Given the description of an element on the screen output the (x, y) to click on. 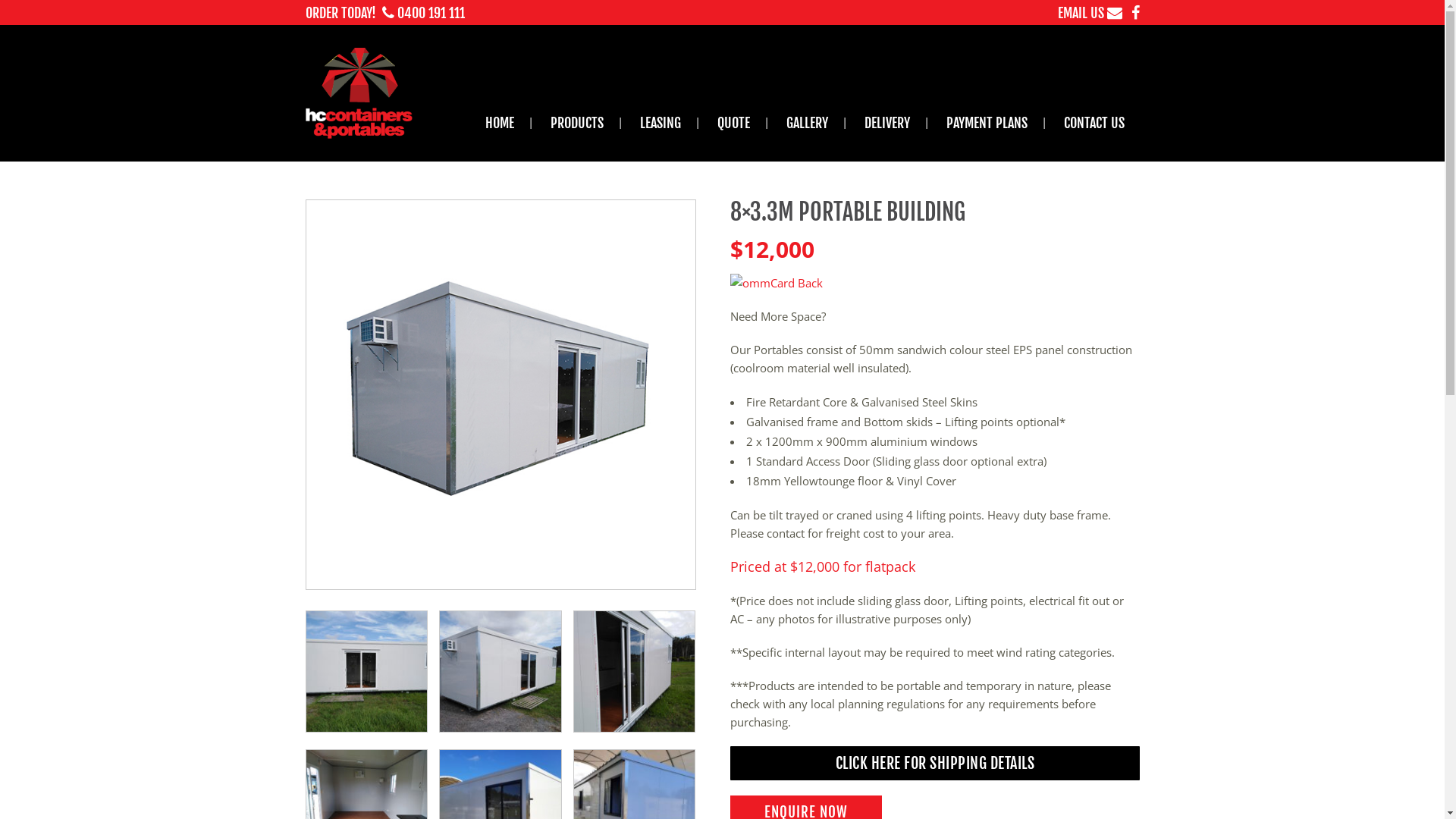
CONTACT US Element type: text (1093, 122)
GALLERY Element type: text (806, 122)
IMG_20200219_100737 Element type: hover (634, 671)
DELIVERY Element type: text (887, 122)
HOME Element type: text (499, 122)
IMG_20200219_093548 Element type: hover (500, 671)
8x3 600x600 Element type: hover (499, 394)
EMAIL US  Element type: text (1089, 12)
IMG_20200219_093559 Element type: hover (365, 671)
LEASING Element type: text (660, 122)
CLICK HERE FOR SHIPPING DETAILS Element type: text (934, 763)
PAYMENT PLANS Element type: text (986, 122)
QUOTE Element type: text (733, 122)
PRODUCTS Element type: text (576, 122)
